Given the description of an element on the screen output the (x, y) to click on. 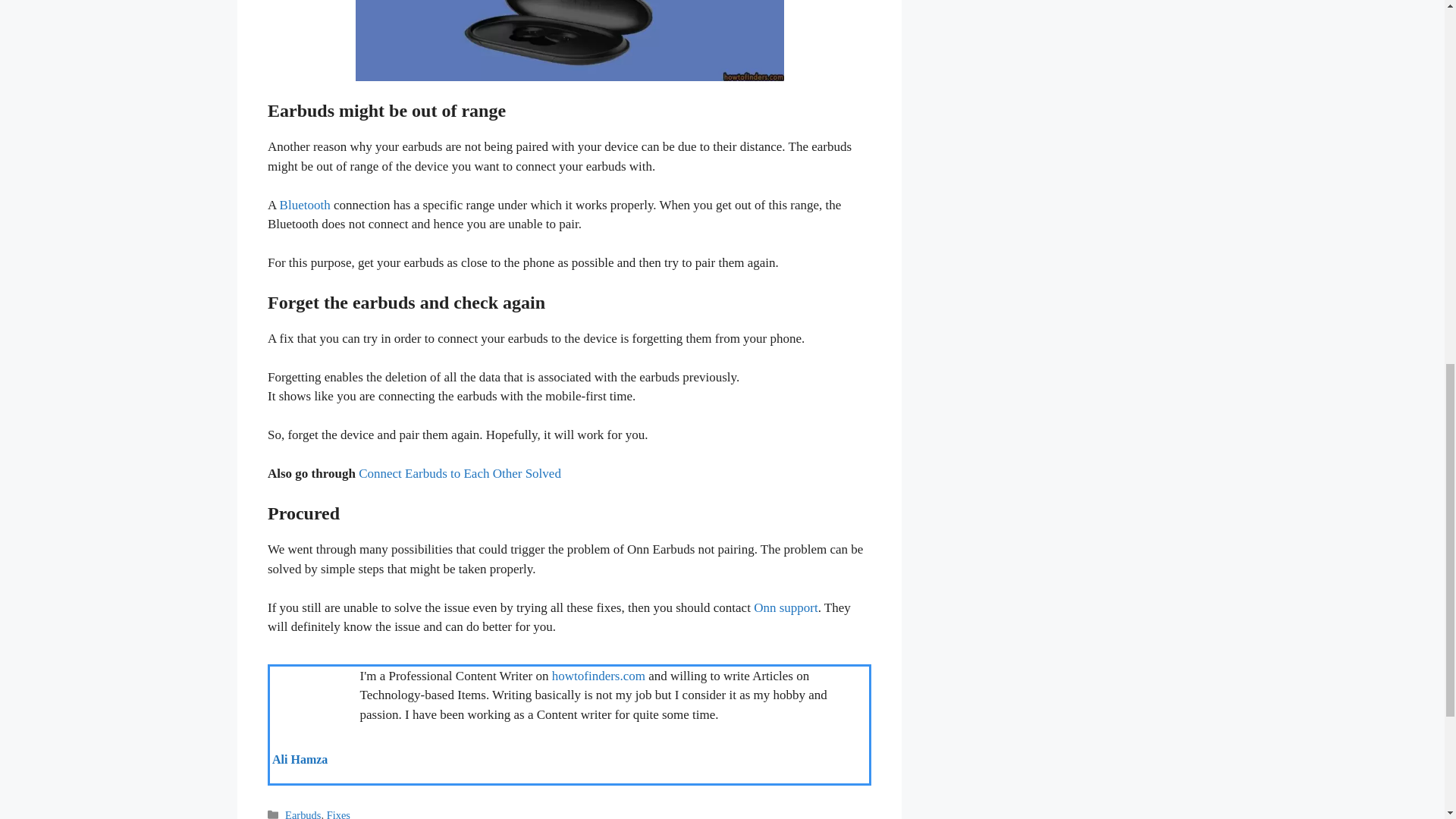
Fixes (337, 814)
Earbuds (302, 814)
Bluetooth (304, 205)
Connect Earbuds to Each Other Solved (459, 473)
howtofinders.com (598, 676)
Onn support (786, 607)
Ali Hamza (298, 758)
Scroll back to top (1406, 720)
